Given the description of an element on the screen output the (x, y) to click on. 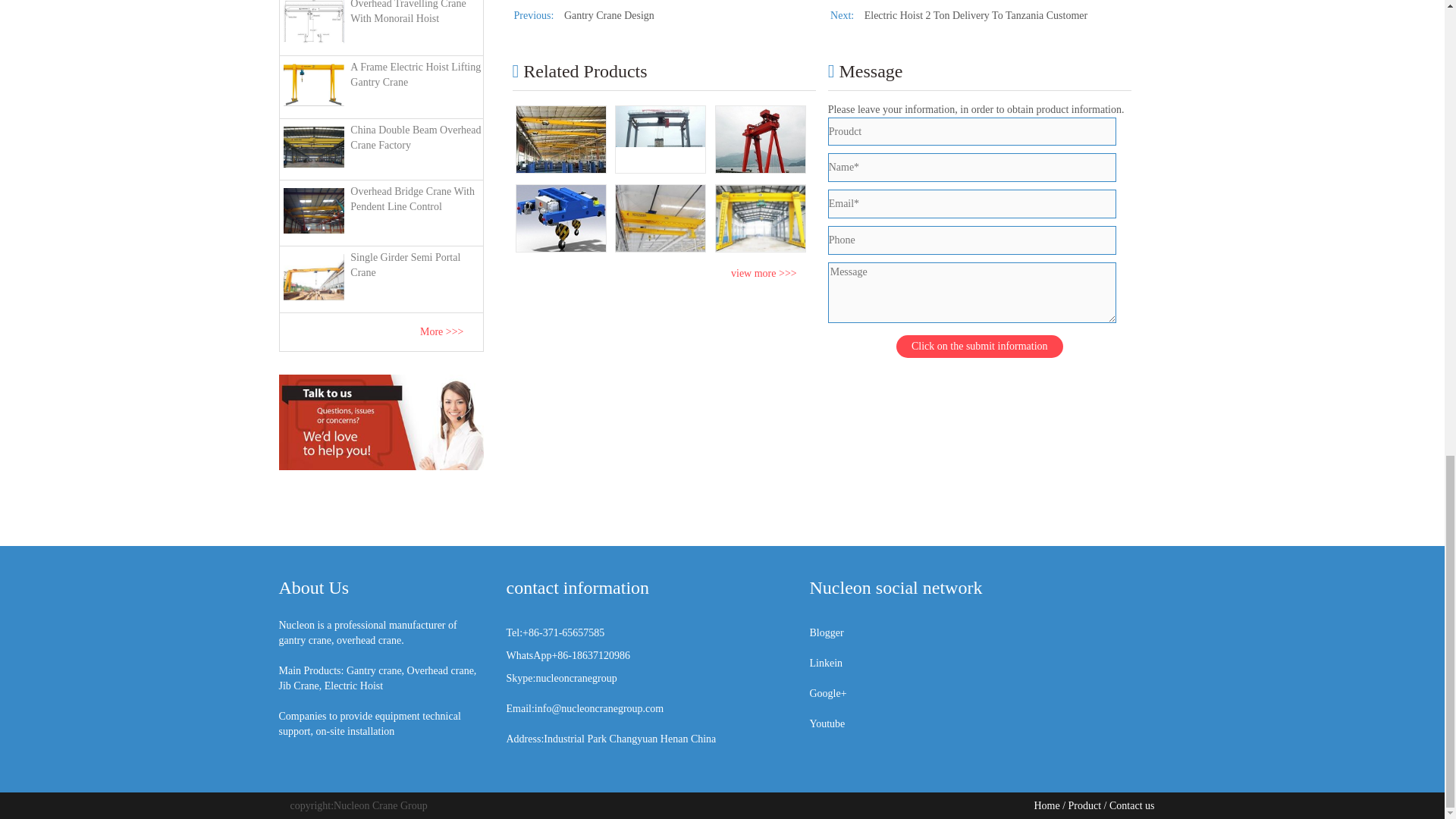
Overhead Travelling Crane With Monorail Hoist (380, 25)
China Double Beam Overhead Crane Factory (380, 147)
A Frame Electric Hoist Lifting Gantry Crane (380, 84)
Overhead Bridge Crane With Pendent Line Control (380, 210)
Single Girder Semi Portal Crane (380, 276)
Overhead Travelling Crane With Monorail Hoist (380, 25)
